Given the description of an element on the screen output the (x, y) to click on. 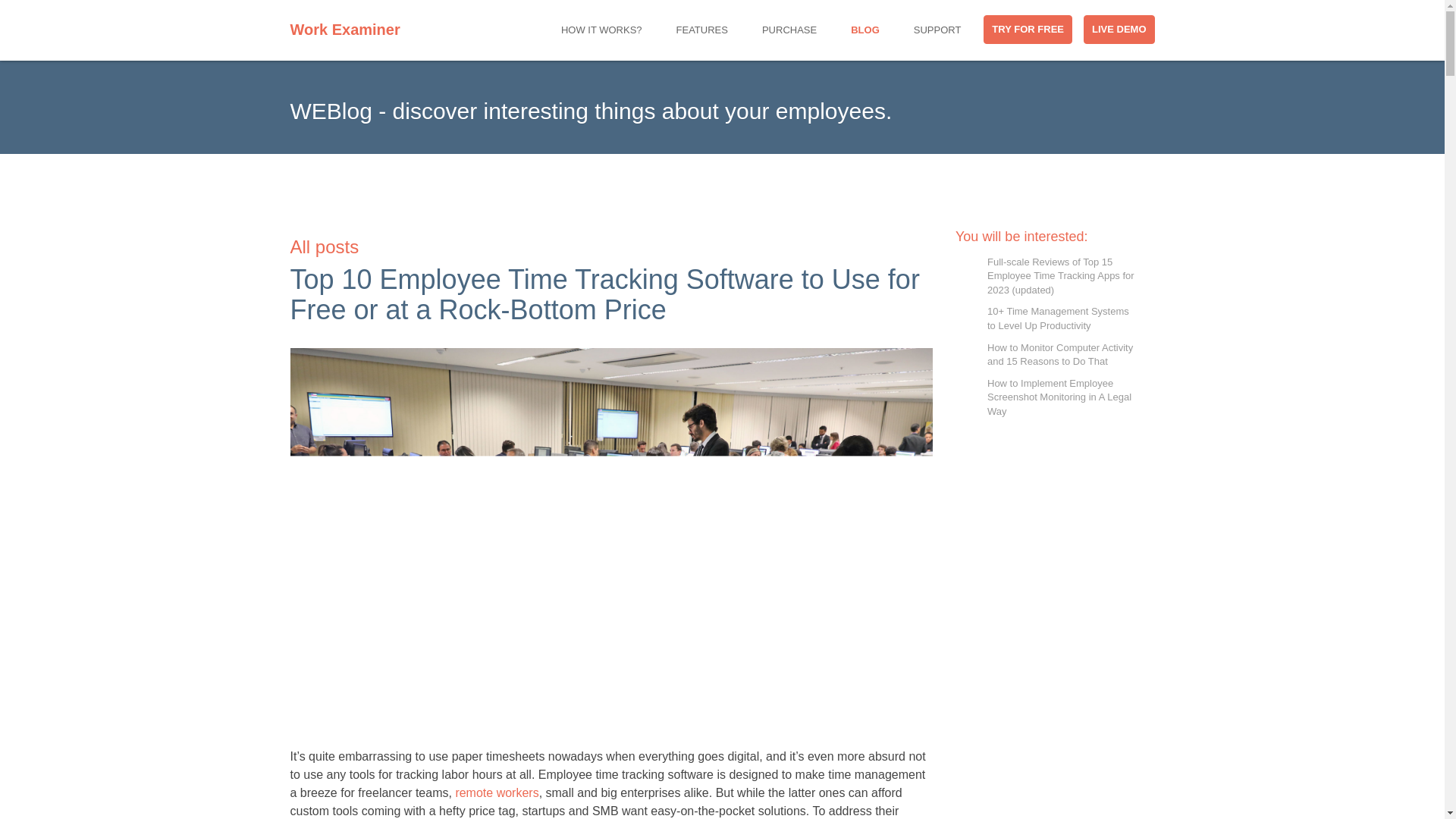
PURCHASE (789, 30)
How to Monitor Computer Activity and 15 Reasons to Do That (1062, 355)
FEATURES (702, 30)
remote workers (496, 792)
LIVE DEMO (1118, 29)
HOW IT WORKS? (601, 30)
BLOG (865, 30)
Work Examiner (351, 25)
SUPPORT (937, 30)
